Given the description of an element on the screen output the (x, y) to click on. 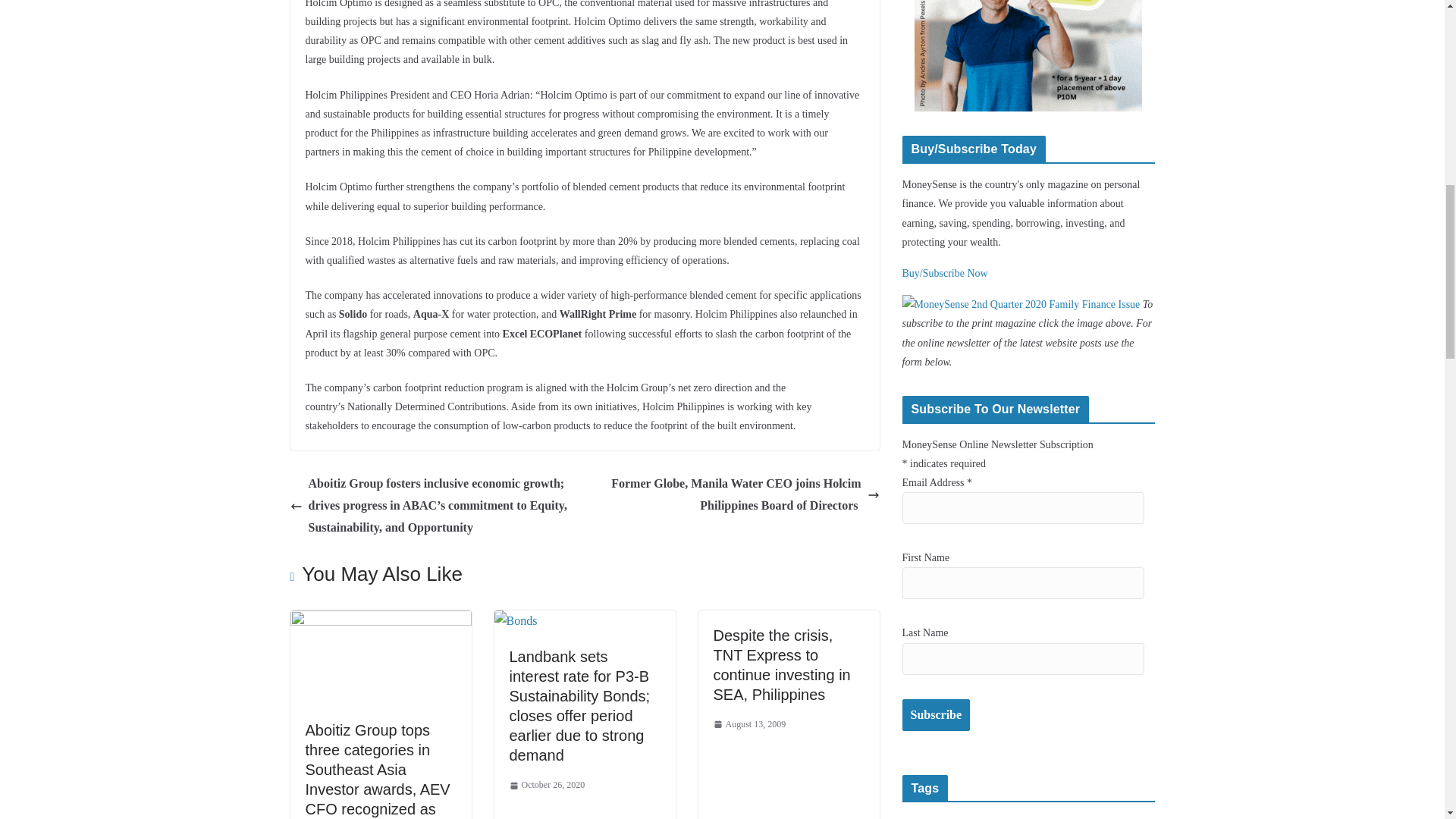
Subscribe (936, 715)
